Given the description of an element on the screen output the (x, y) to click on. 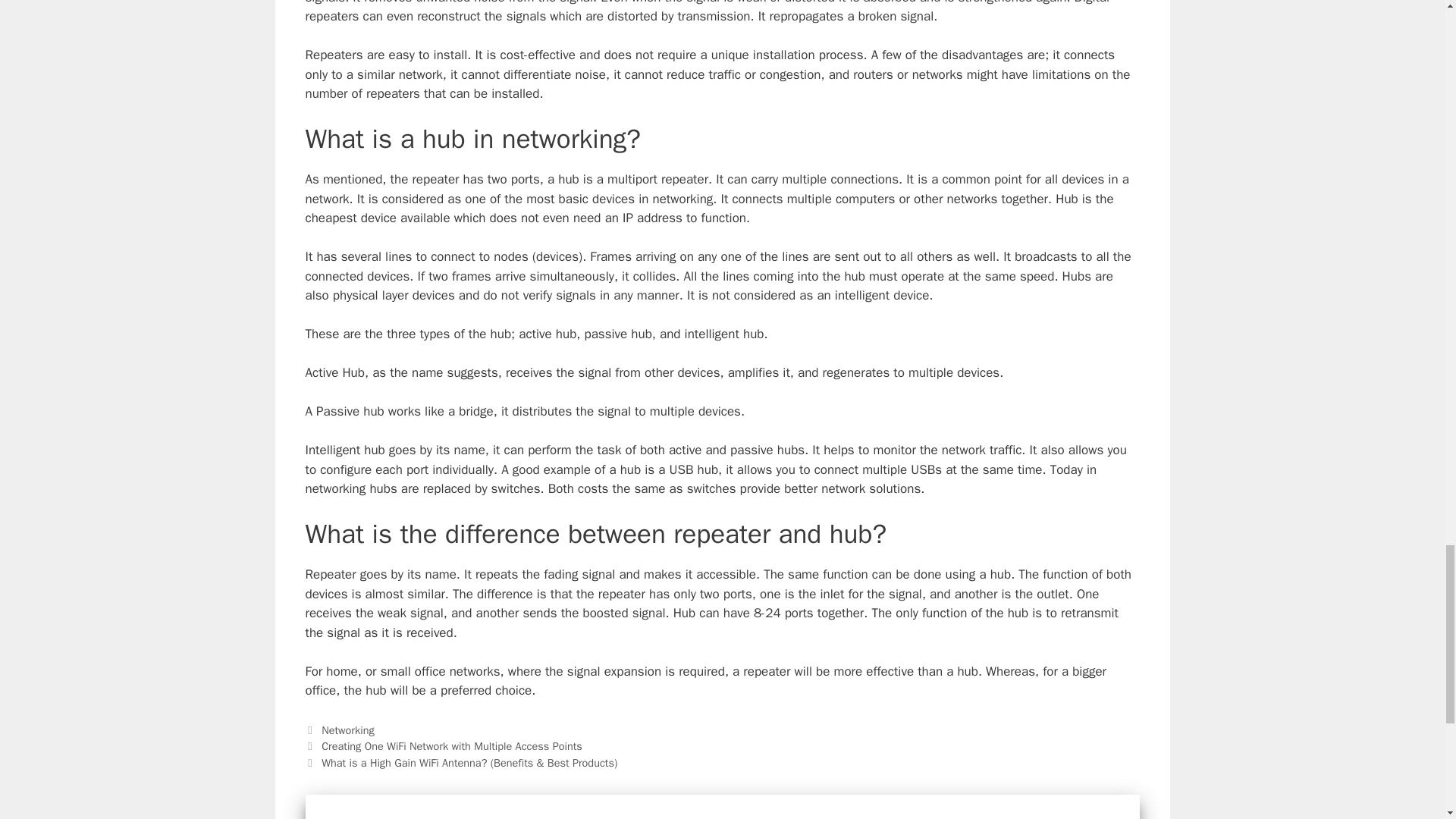
Networking (347, 730)
Creating One WiFi Network with Multiple Access Points (451, 745)
